Given the description of an element on the screen output the (x, y) to click on. 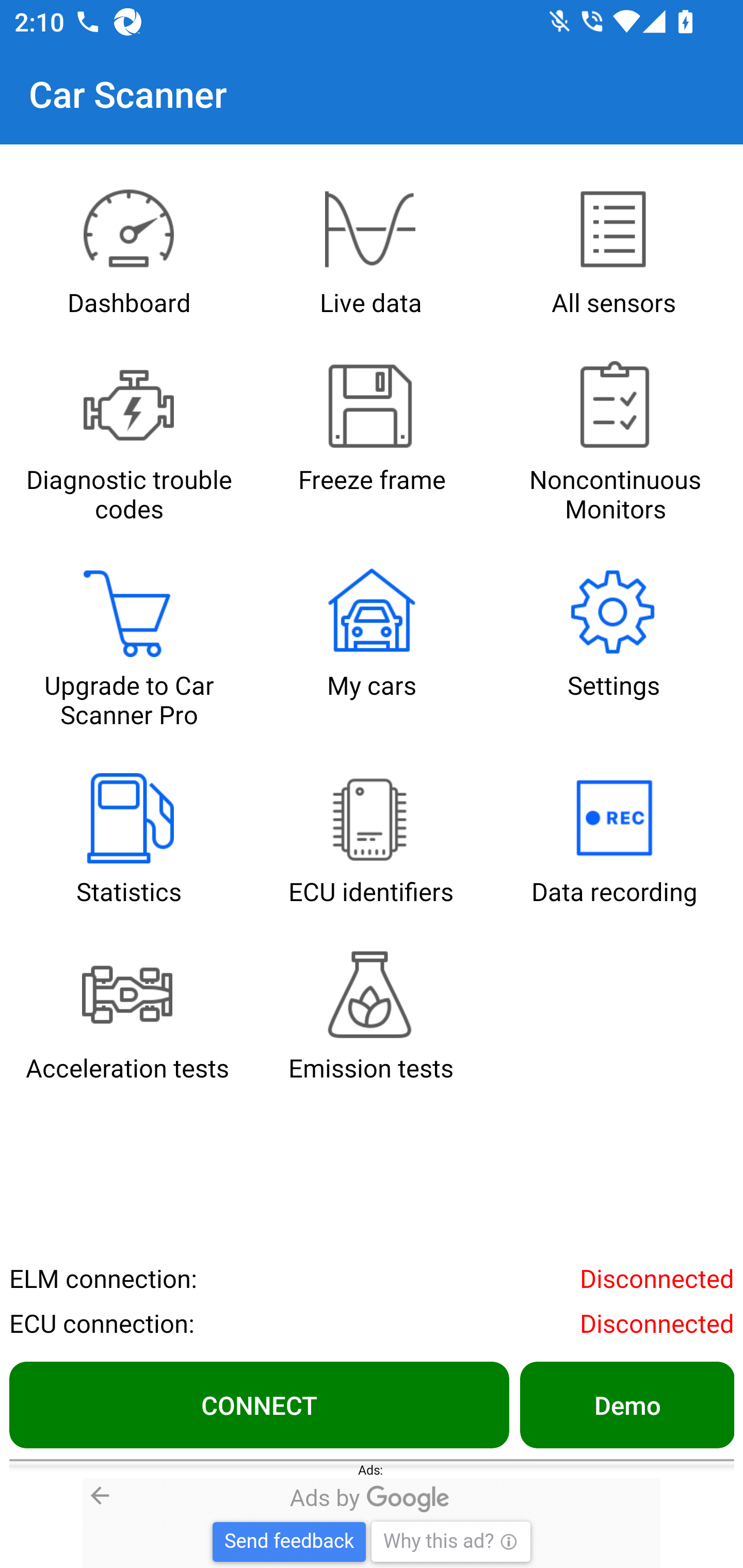
CONNECT (258, 1404)
Demo (627, 1404)
